Given the description of an element on the screen output the (x, y) to click on. 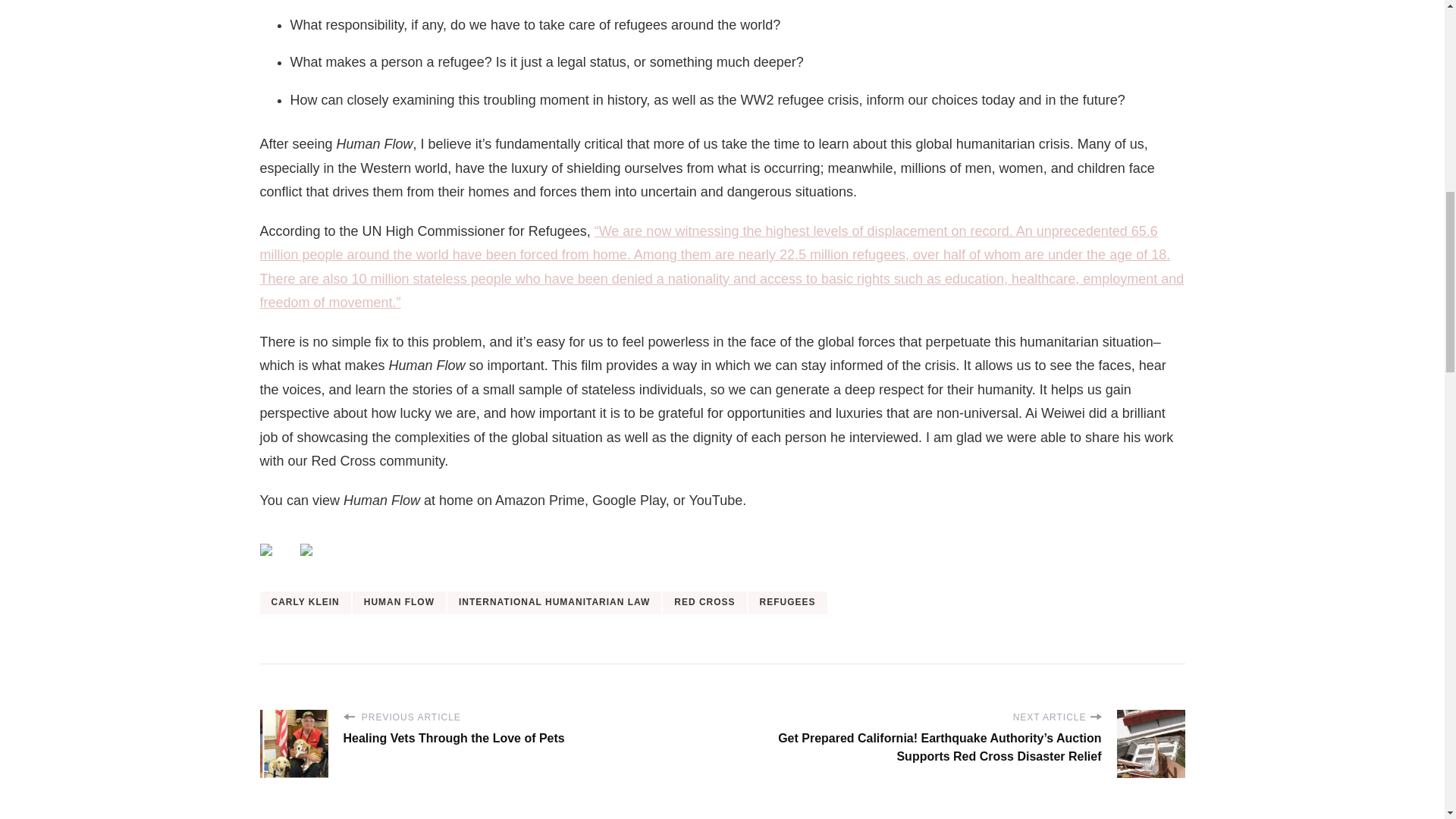
CARLY KLEIN (304, 602)
HUMAN FLOW (398, 602)
RED CROSS (703, 602)
Share on Twitter (306, 549)
Share on Facebook (264, 549)
Share on Facebook (277, 561)
Share on Twitter (317, 561)
INTERNATIONAL HUMANITARIAN LAW (553, 602)
